Given the description of an element on the screen output the (x, y) to click on. 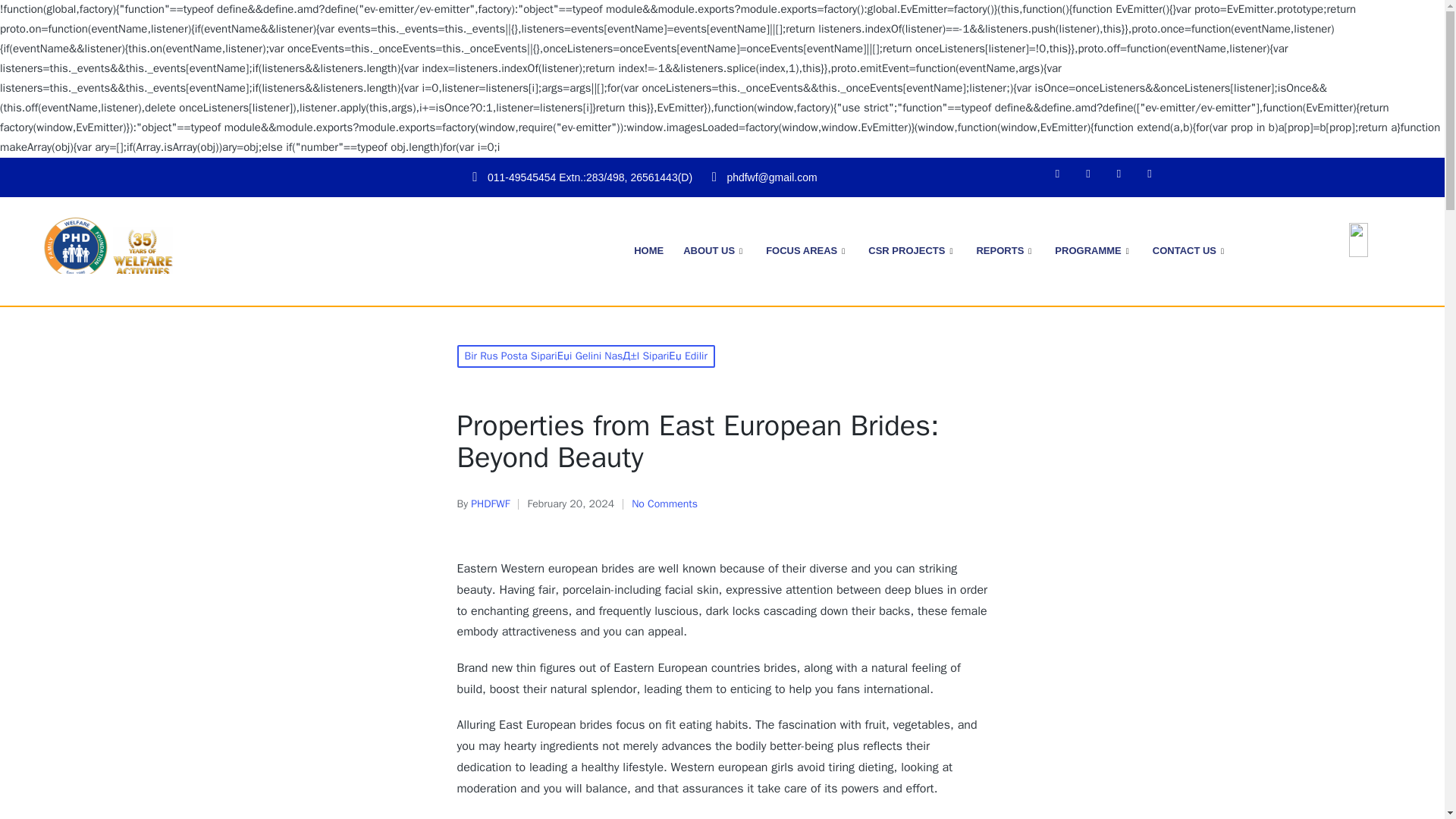
FOCUS AREAS (807, 251)
View all posts by PHDFWF (489, 503)
ABOUT US (713, 251)
CSR PROJECTS (912, 251)
HOME (648, 251)
